Given the description of an element on the screen output the (x, y) to click on. 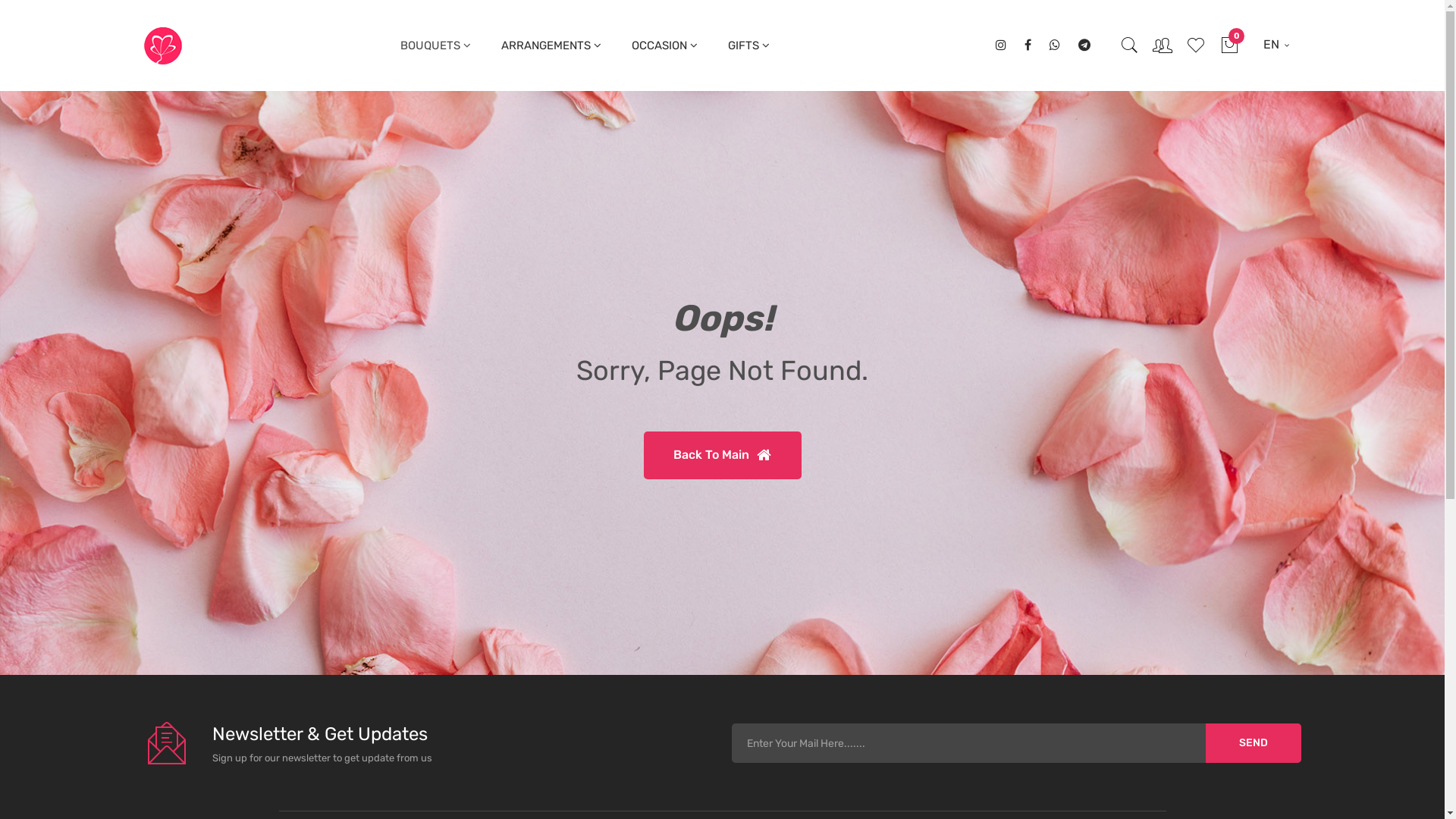
OCCASION Element type: text (663, 45)
0 Element type: text (1229, 45)
BOUQUETS Element type: text (435, 45)
Back To Main Element type: text (721, 454)
ARRANGEMENTS Element type: text (550, 45)
SEND Element type: text (1253, 742)
GIFTS Element type: text (748, 45)
